Given the description of an element on the screen output the (x, y) to click on. 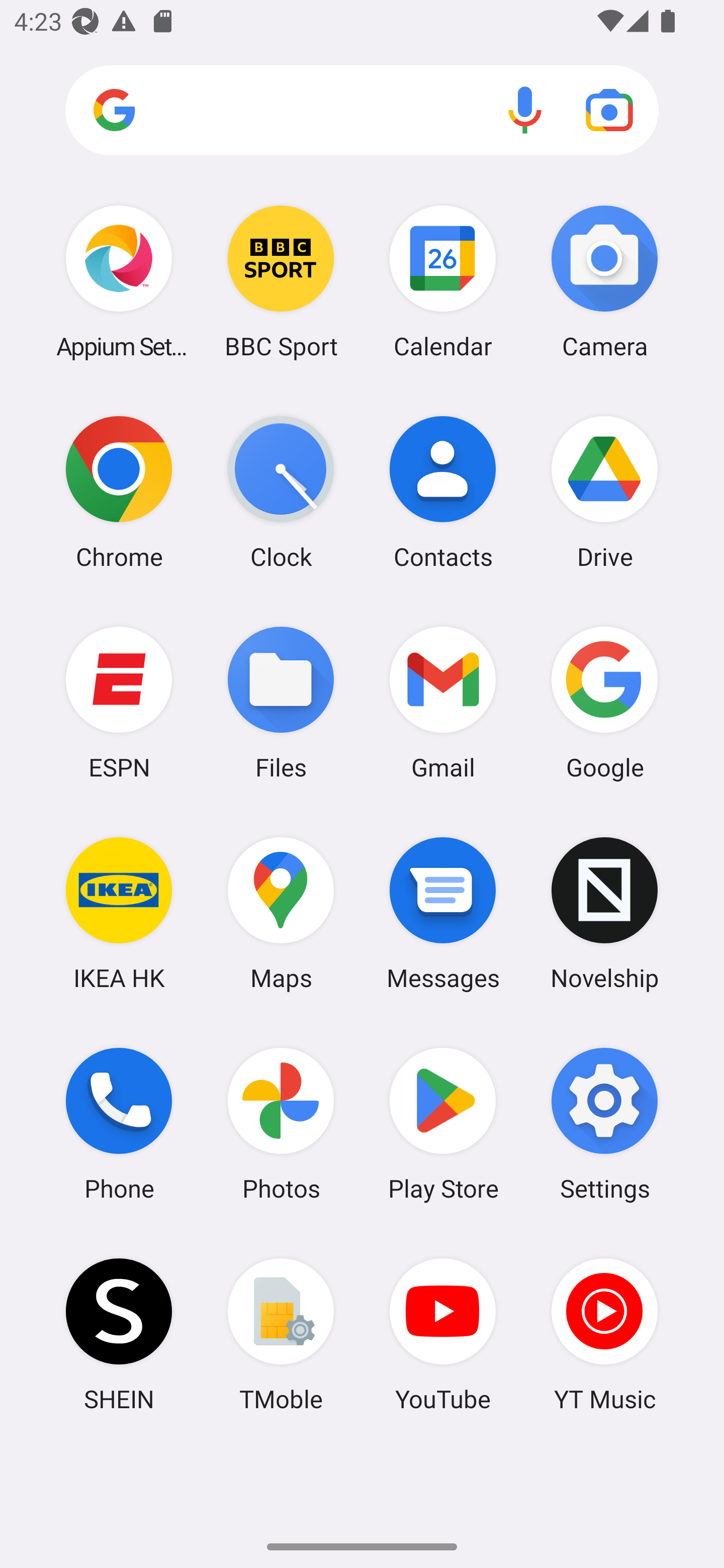
Search apps, web and more (361, 110)
Voice search (524, 109)
Google Lens (608, 109)
Appium Settings (118, 281)
BBC Sport (280, 281)
Calendar (443, 281)
Camera (604, 281)
Chrome (118, 492)
Clock (280, 492)
Contacts (443, 492)
Drive (604, 492)
ESPN (118, 702)
Files (280, 702)
Gmail (443, 702)
Google (604, 702)
IKEA HK (118, 913)
Maps (280, 913)
Messages (443, 913)
Novelship (604, 913)
Phone (118, 1124)
Photos (280, 1124)
Play Store (443, 1124)
Settings (604, 1124)
SHEIN (118, 1334)
TMoble (280, 1334)
YouTube (443, 1334)
YT Music (604, 1334)
